Given the description of an element on the screen output the (x, y) to click on. 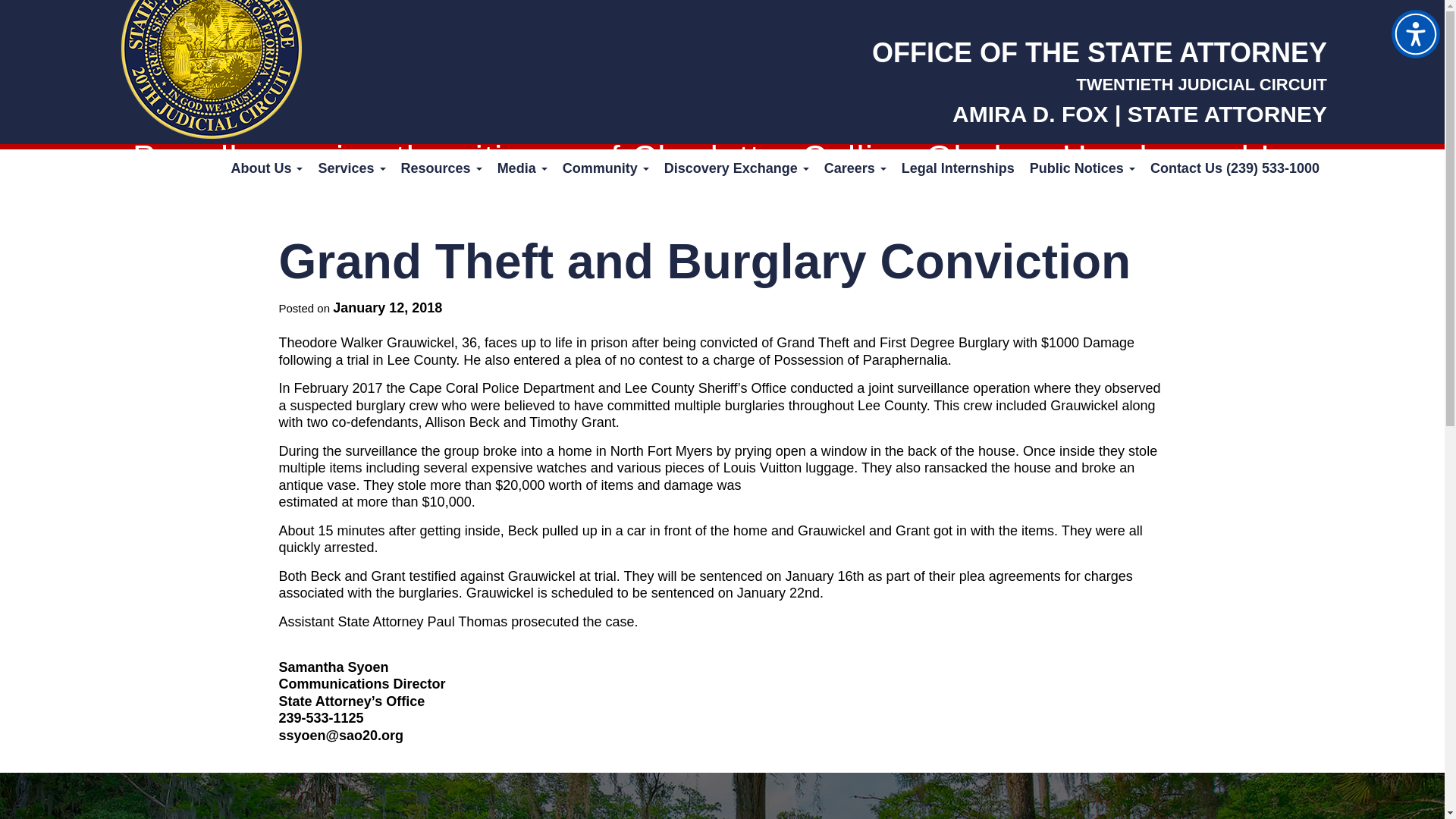
About Us (266, 168)
Resources (441, 168)
Services (351, 168)
About Us (266, 168)
Accessibility Menu (1415, 33)
